Given the description of an element on the screen output the (x, y) to click on. 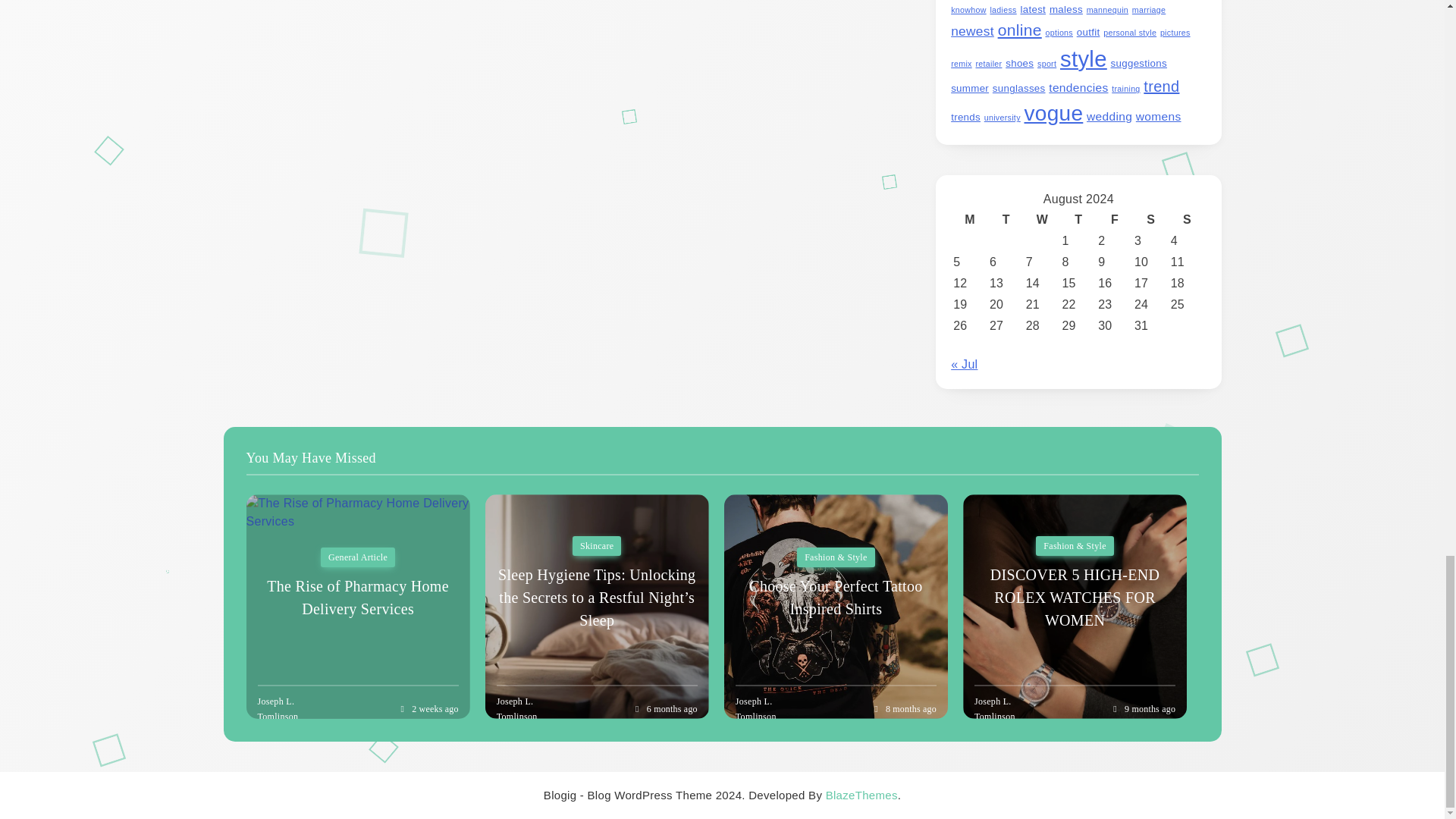
Saturday (1151, 219)
Monday (969, 219)
Thursday (1078, 219)
DISCOVER 5 HIGH-END ROLEX WATCHES FOR WOMEN (1074, 606)
Choose Your Perfect Tattoo Inspired Shirts (835, 606)
Friday (1114, 219)
Tuesday (1005, 219)
Wednesday (1042, 219)
The Rise of Pharmacy Home Delivery Services (357, 606)
Sunday (1187, 219)
